Given the description of an element on the screen output the (x, y) to click on. 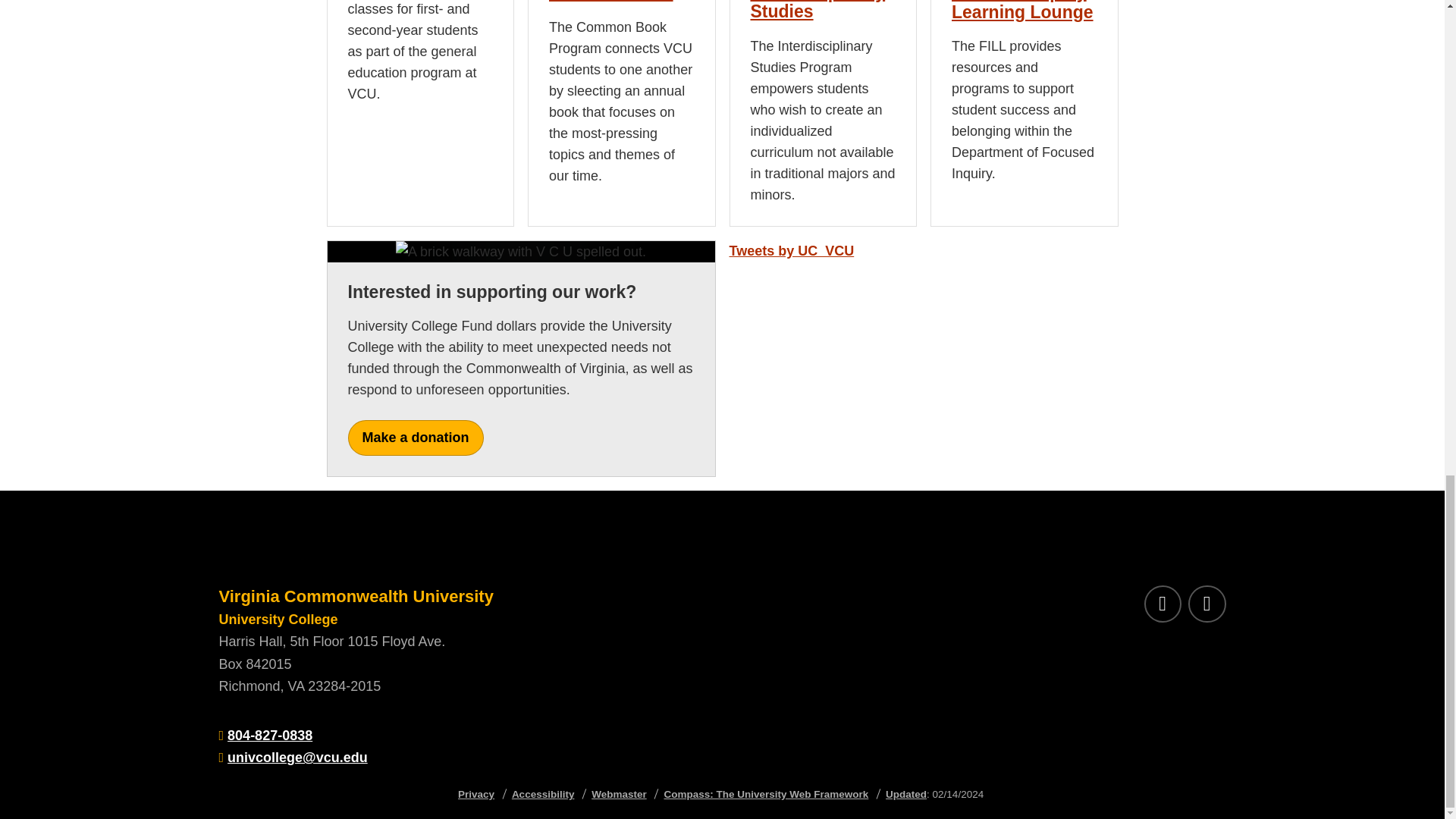
Virginia Commonwealth University seal (456, 551)
Accessibility at VCU (543, 794)
Contact us by email (297, 757)
Instagram (1206, 604)
Virginia Commonwealth University (355, 596)
Contact us by telephone (270, 735)
Make a donation (415, 437)
Focused Inquiry Learning Lounge (1022, 10)
Contact the VCU webmaster (618, 794)
Twitter (1161, 604)
